Given the description of an element on the screen output the (x, y) to click on. 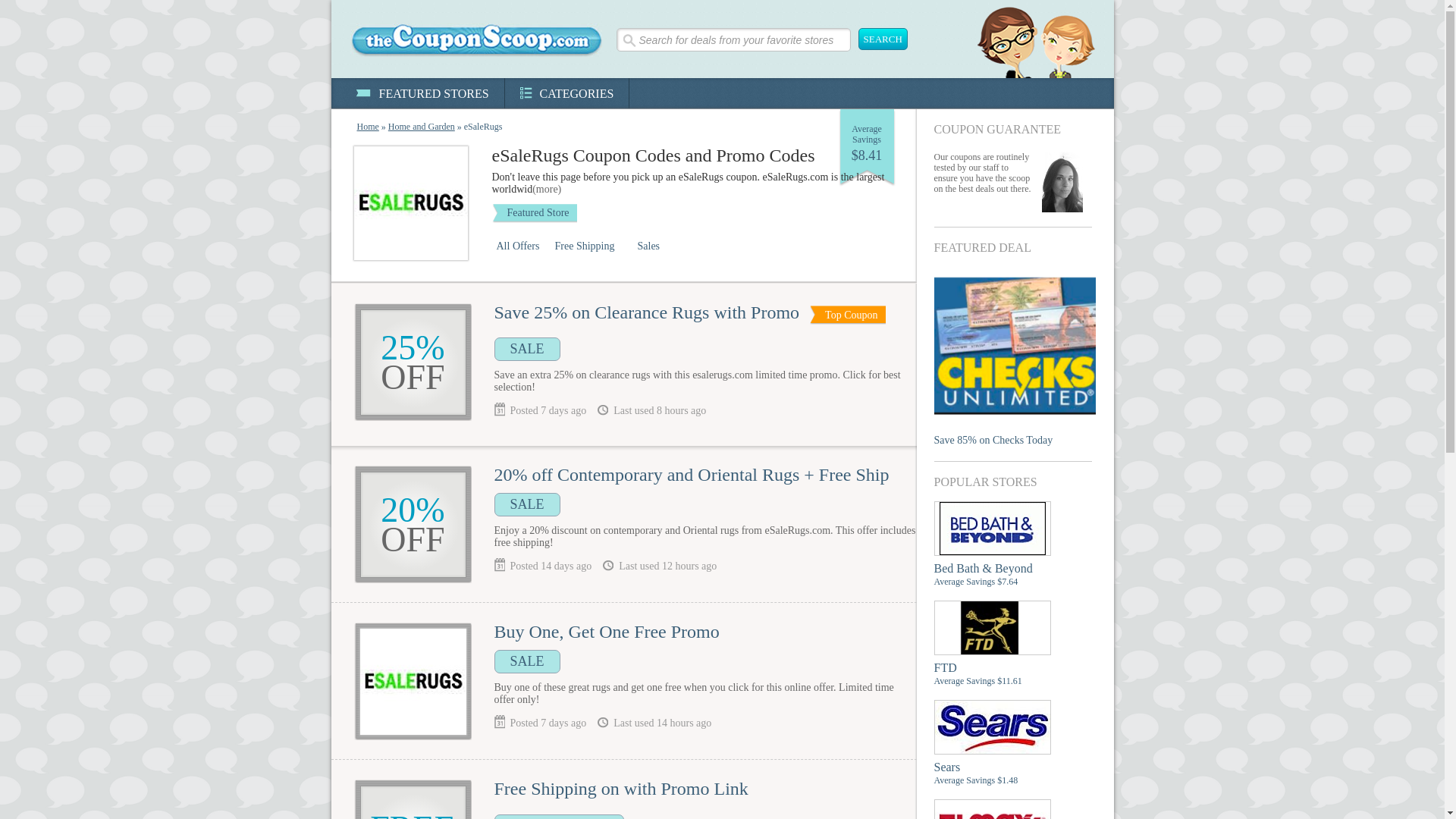
FREE SHIPPING (559, 816)
Sales (649, 245)
SEARCH (883, 38)
SEARCH (883, 38)
Home (367, 126)
SEARCH (883, 38)
Free Shipping (591, 245)
SALE (527, 504)
All Offers (521, 245)
FEATURED STORES (421, 92)
Search for deals from your favorite stores (732, 39)
SALE (527, 349)
Search for deals from your favorite stores (732, 39)
CATEGORIES (566, 92)
Buy One, Get One Free Promo (607, 631)
